Given the description of an element on the screen output the (x, y) to click on. 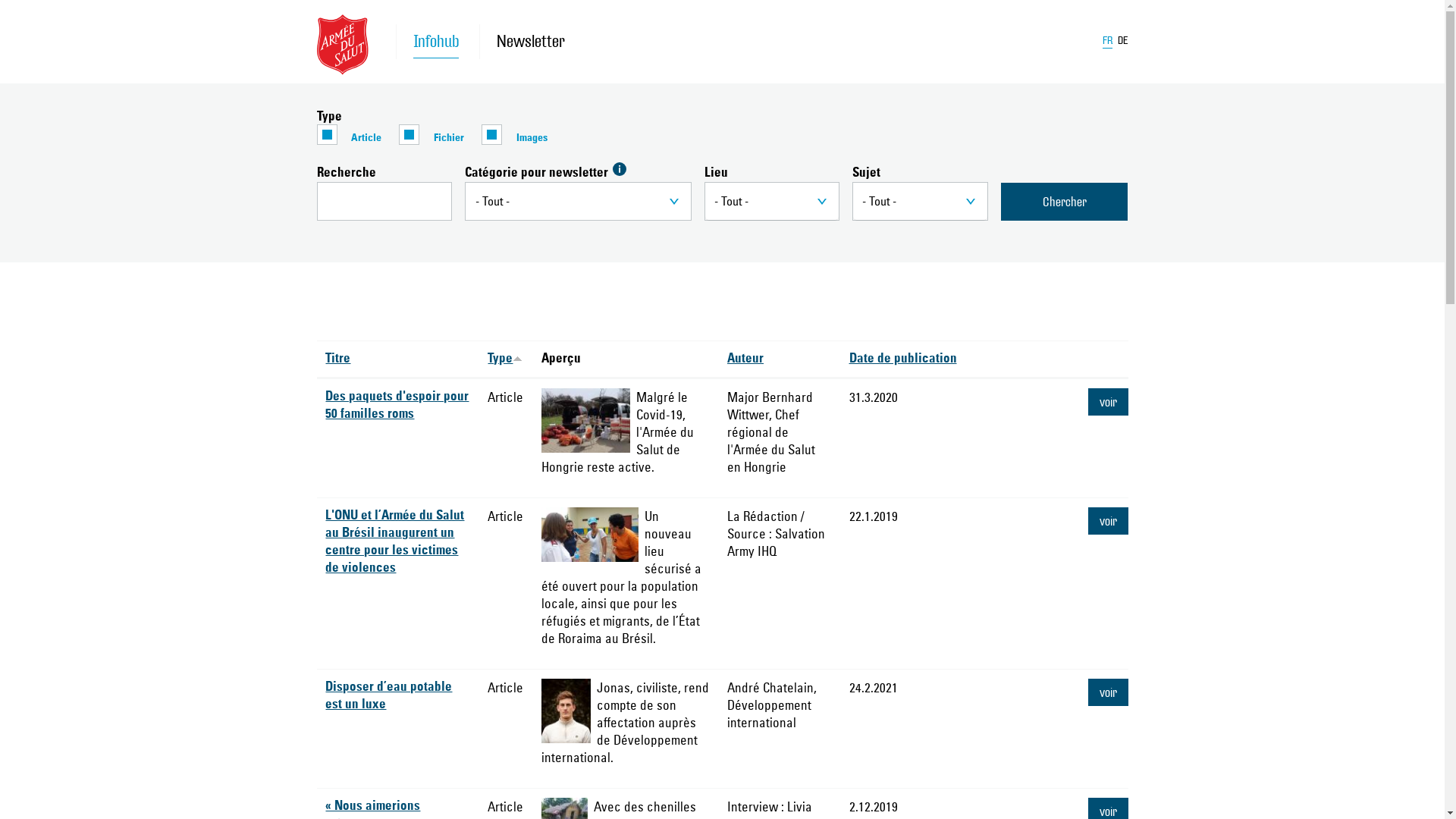
Infohub Element type: text (435, 42)
Auteur Element type: text (745, 358)
- Tout - Element type: text (920, 200)
voir Element type: text (1108, 692)
Date de publication Element type: text (903, 358)
Aller au contenu principal Element type: text (0, 0)
Des paquets d'espoir pour 50 familles roms Element type: text (396, 405)
Titre Element type: text (337, 358)
Type Element type: text (504, 358)
Newsletter Element type: text (521, 42)
- Tout - Element type: text (772, 200)
voir Element type: text (1108, 401)
DE Element type: text (1122, 40)
Chercher Element type: text (1064, 201)
FR Element type: text (1107, 42)
voir Element type: text (1108, 520)
